Given the description of an element on the screen output the (x, y) to click on. 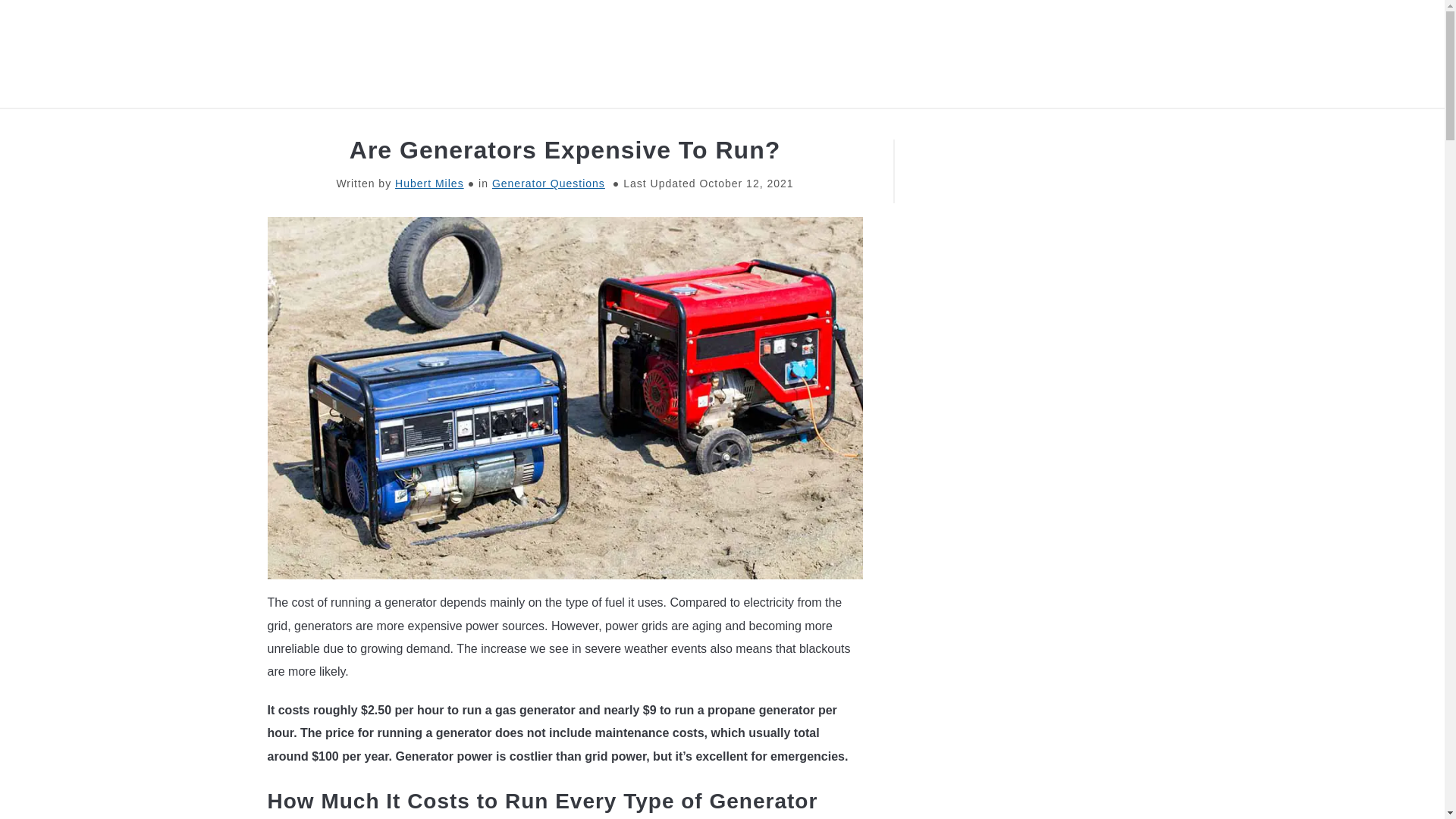
HOW TO GUIDES (650, 126)
BRANDS (399, 126)
Generator Questions (548, 183)
Hubert Miles (429, 183)
BUYER GUIDES (512, 126)
GENERATOR QUESTIONS (821, 126)
GENERATOR TYPES (1005, 126)
Search (1203, 53)
